Given the description of an element on the screen output the (x, y) to click on. 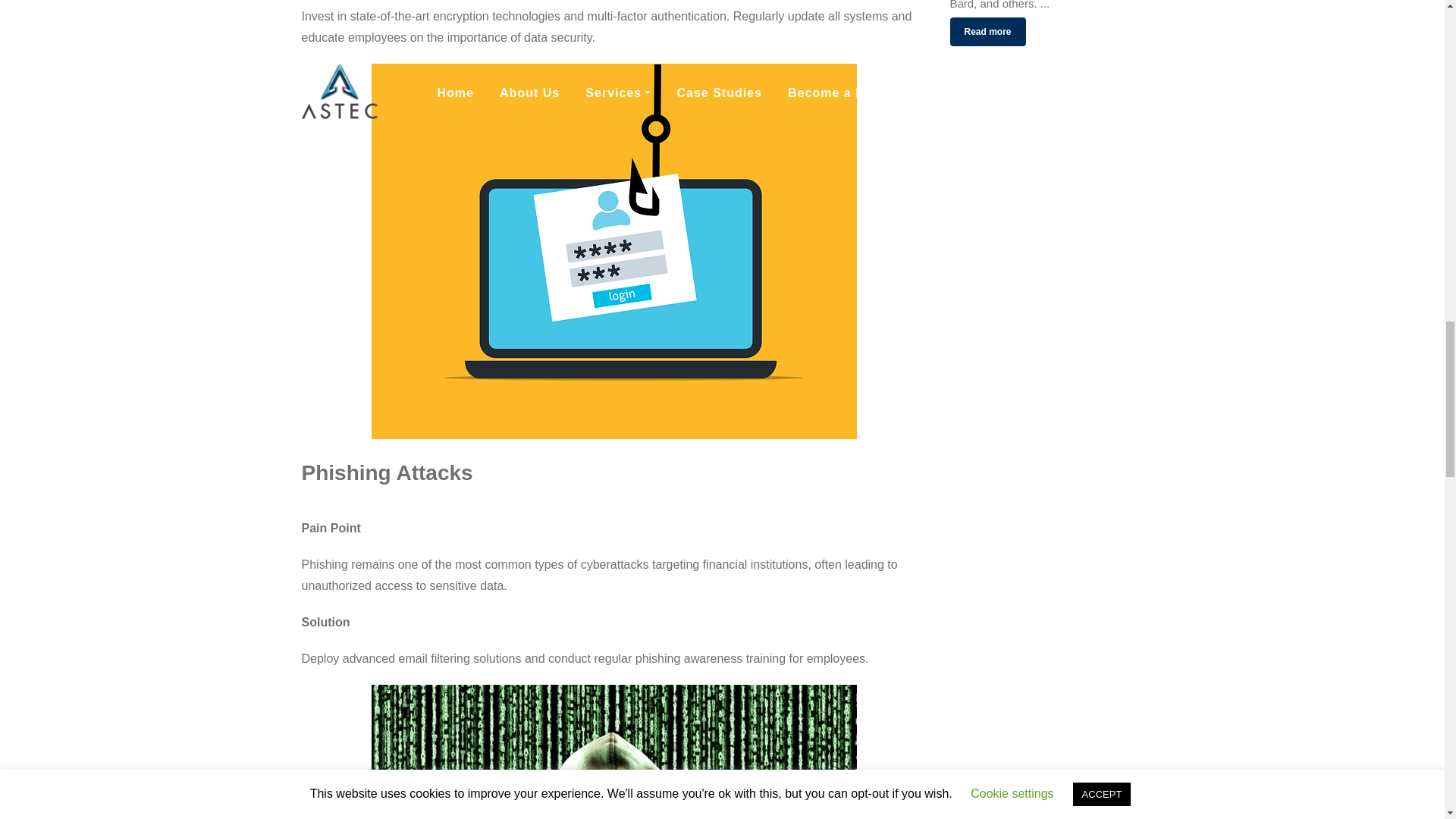
Read more (987, 31)
